Given the description of an element on the screen output the (x, y) to click on. 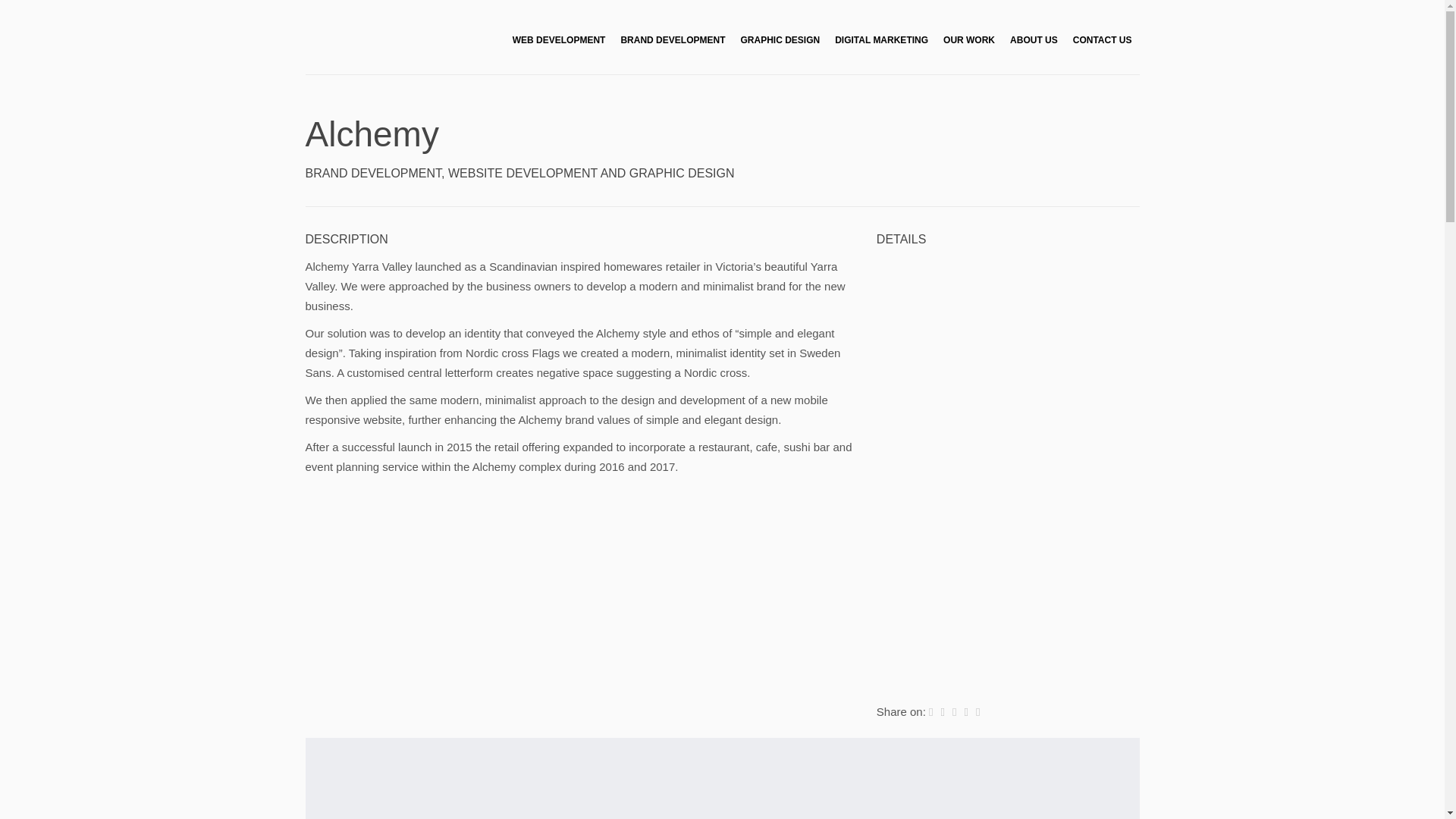
brand development alchemy yarra valley 01 (721, 778)
DIGITAL MARKETING (881, 40)
WEB DEVELOPMENT (558, 40)
CONTACT US (1102, 40)
BRAND DEVELOPMENT (672, 40)
OUR WORK (969, 40)
ABOUT US (1034, 40)
GRAPHIC DESIGN (779, 40)
